Given the description of an element on the screen output the (x, y) to click on. 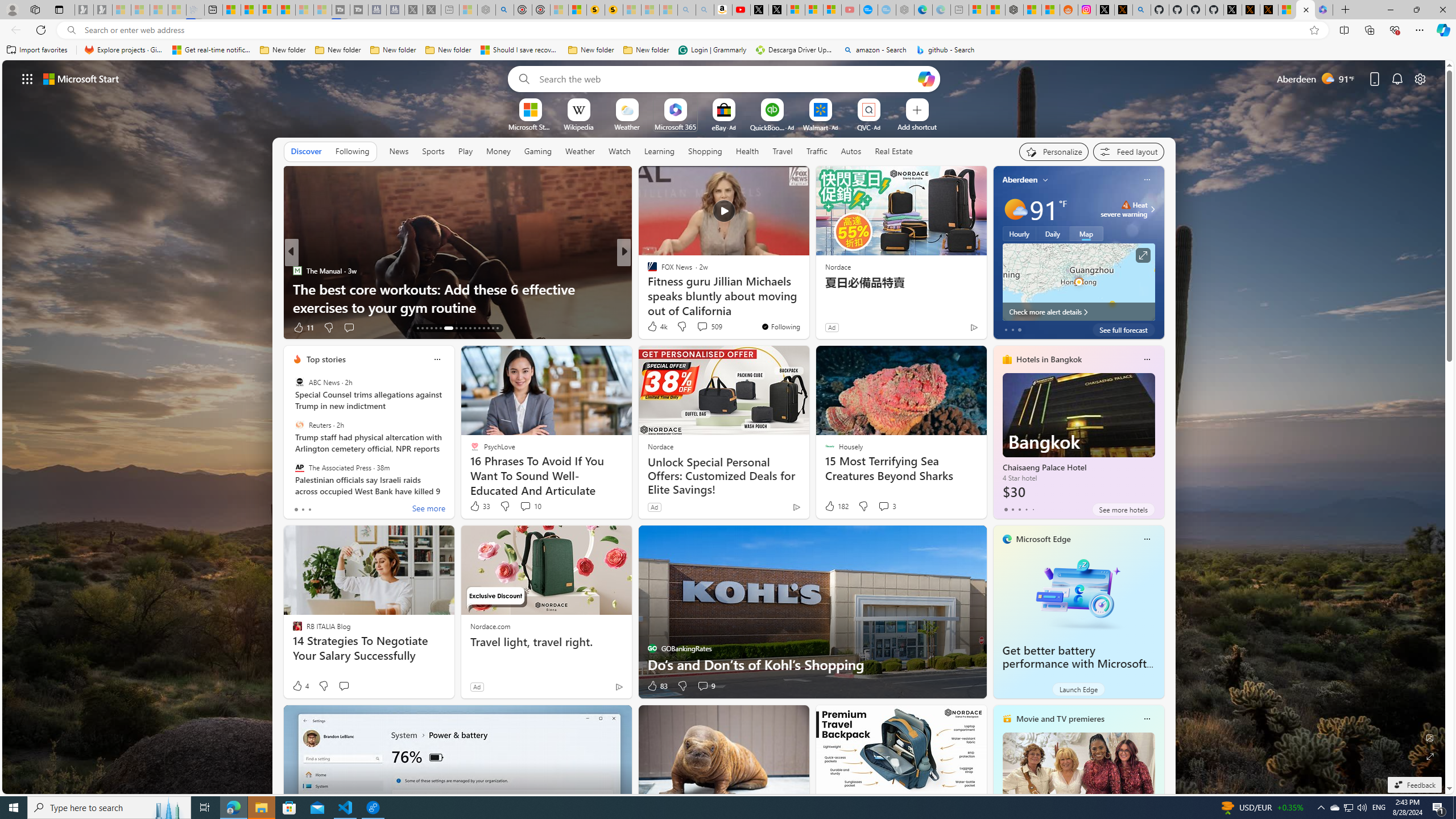
Gaming (537, 151)
tab-3 (1025, 509)
AutomationID: tab-23 (470, 328)
Mostly sunny (1014, 208)
Expand background (1430, 756)
Microsoft Start - Sleeping (304, 9)
See full forecast (1123, 329)
BRAINY DOSE (647, 288)
XDA Developers (647, 288)
